Given the description of an element on the screen output the (x, y) to click on. 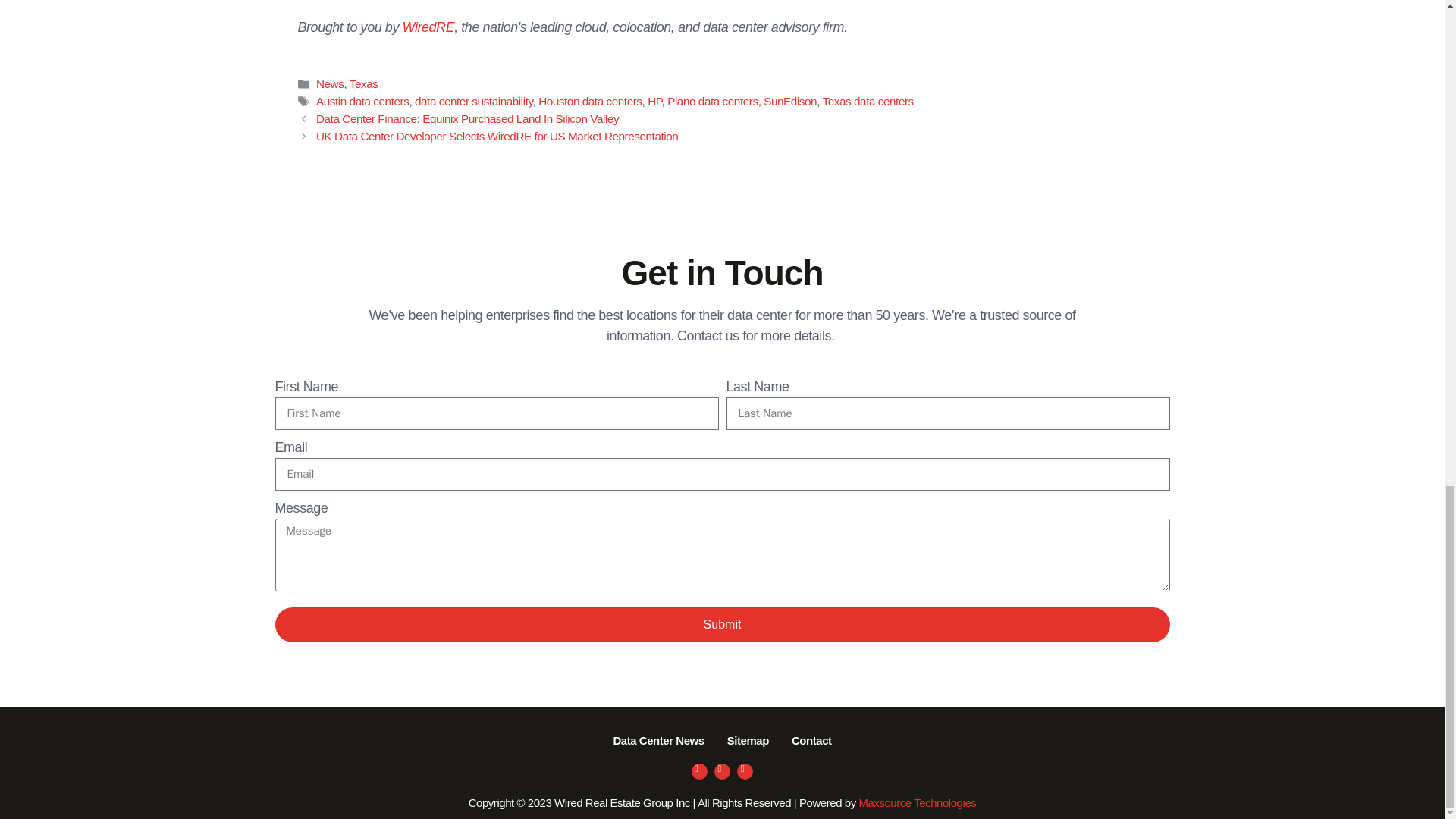
Austin data centers (362, 101)
Houston data centers (590, 101)
Scroll back to top (1406, 331)
SunEdison (789, 101)
Texas data centers (868, 101)
Submit (722, 624)
News (329, 83)
Plano data centers (711, 101)
WiredRE (427, 27)
